Given the description of an element on the screen output the (x, y) to click on. 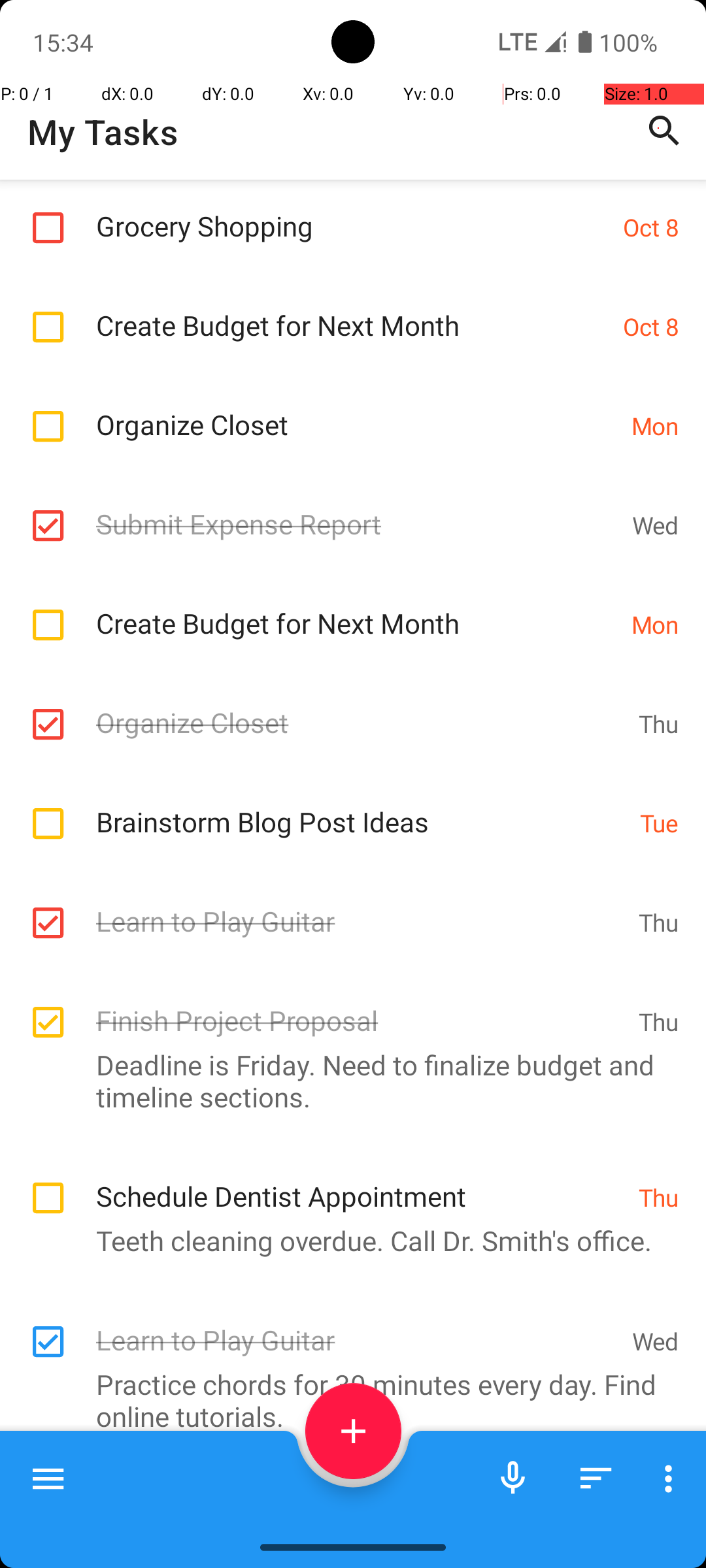
Brainstorm Blog Post Ideas Element type: android.widget.TextView (361, 807)
Deadline is Friday. Need to finalize budget and timeline sections. Element type: android.widget.TextView (346, 1080)
Teeth cleaning overdue. Call Dr. Smith's office. Element type: android.widget.TextView (346, 1239)
Practice chords for 30 minutes every day. Find online tutorials. Element type: android.widget.TextView (346, 1399)
